Given the description of an element on the screen output the (x, y) to click on. 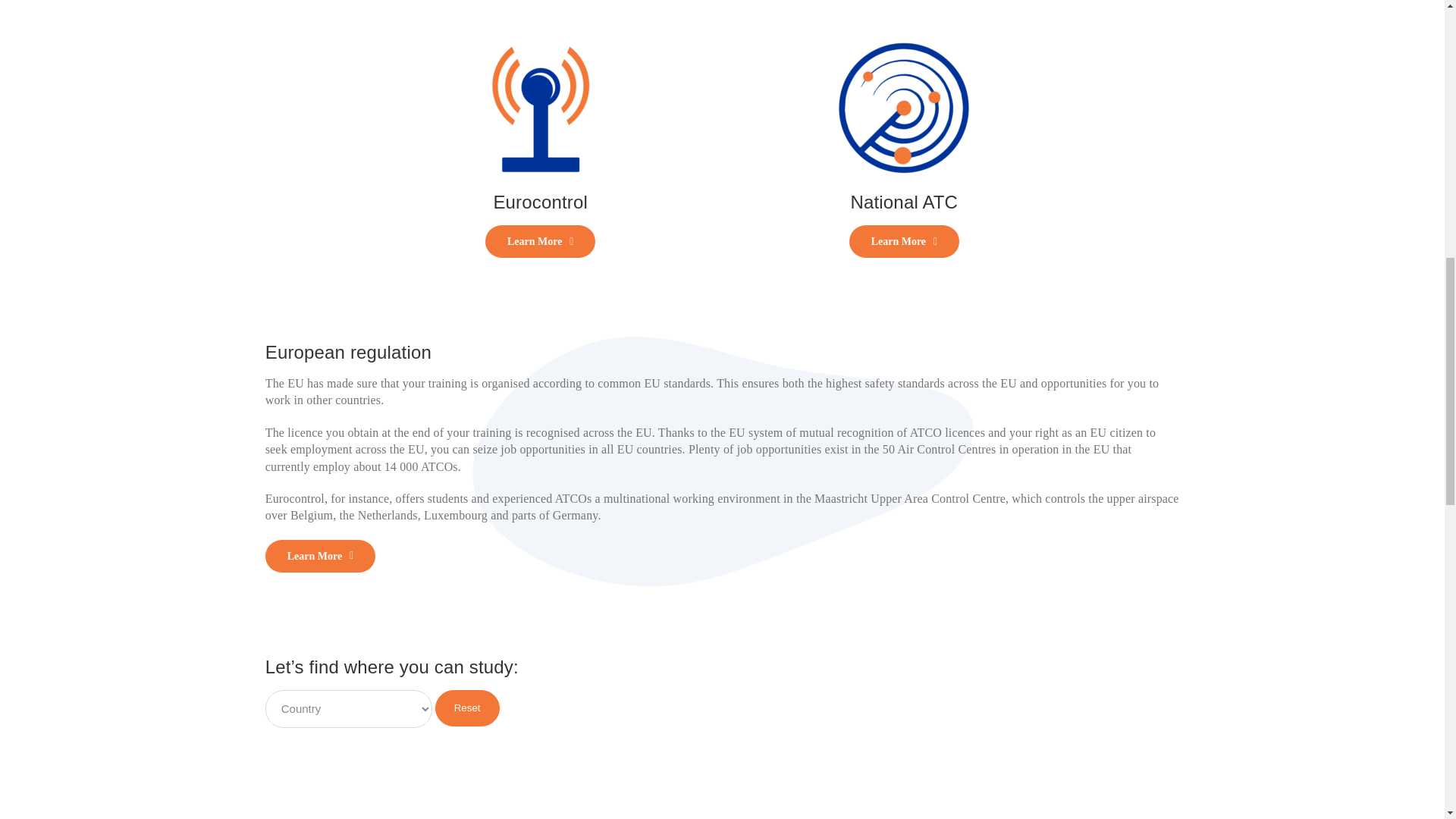
Learn more about eurocontrol (539, 241)
Learn more about eurocontrol (903, 241)
Learn more about European regulation (319, 555)
tool-icon-national-atc (903, 107)
tool-icon-eurocontrol (539, 107)
